Given the description of an element on the screen output the (x, y) to click on. 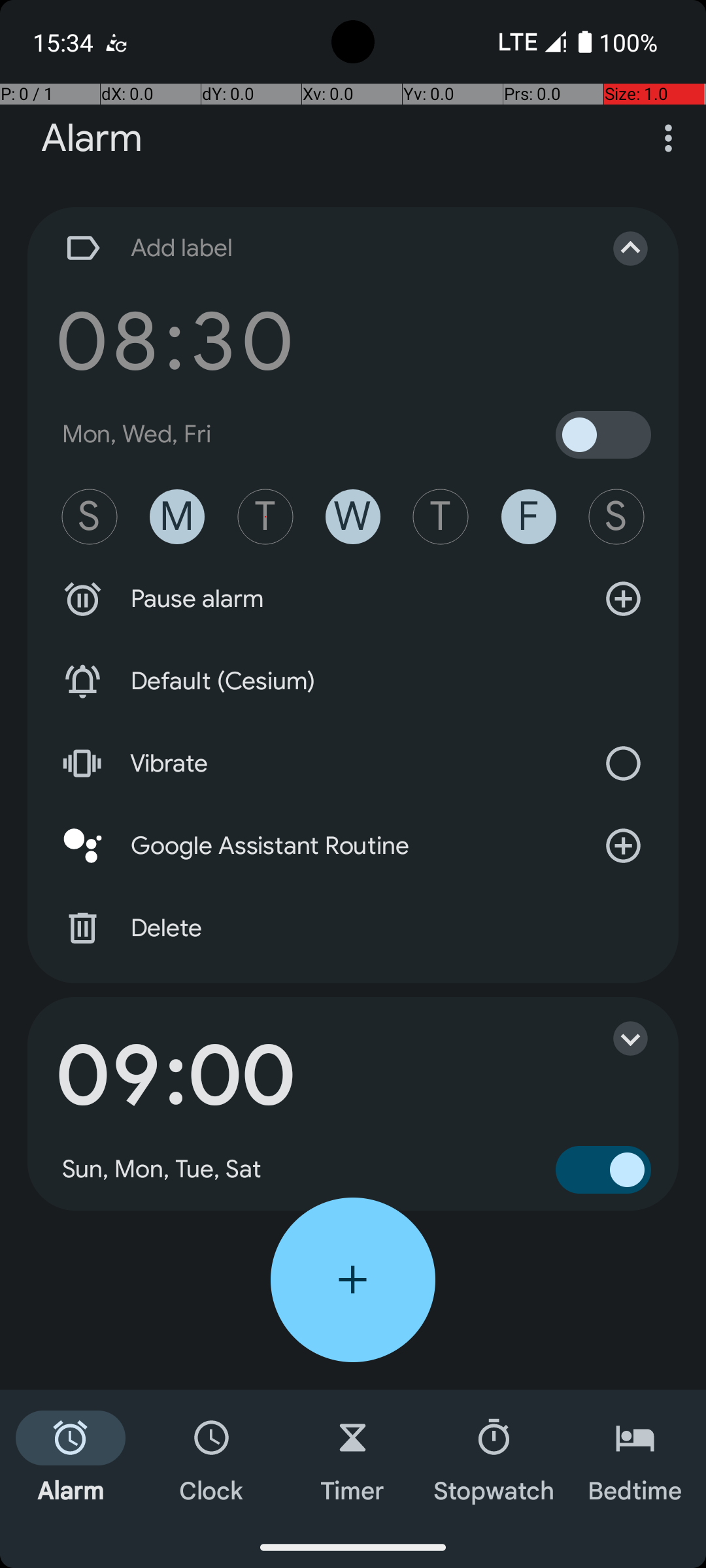
Add label Element type: android.widget.TextView (318, 248)
Collapse alarm Element type: android.widget.ImageButton (616, 248)
Mon, Wed, Fri Element type: android.widget.TextView (136, 433)
Pause alarm Element type: android.widget.TextView (352, 598)
Google Assistant Routine Element type: android.widget.TextView (352, 845)
Sun, Mon, Tue, Sat Element type: android.widget.TextView (161, 1169)
